Given the description of an element on the screen output the (x, y) to click on. 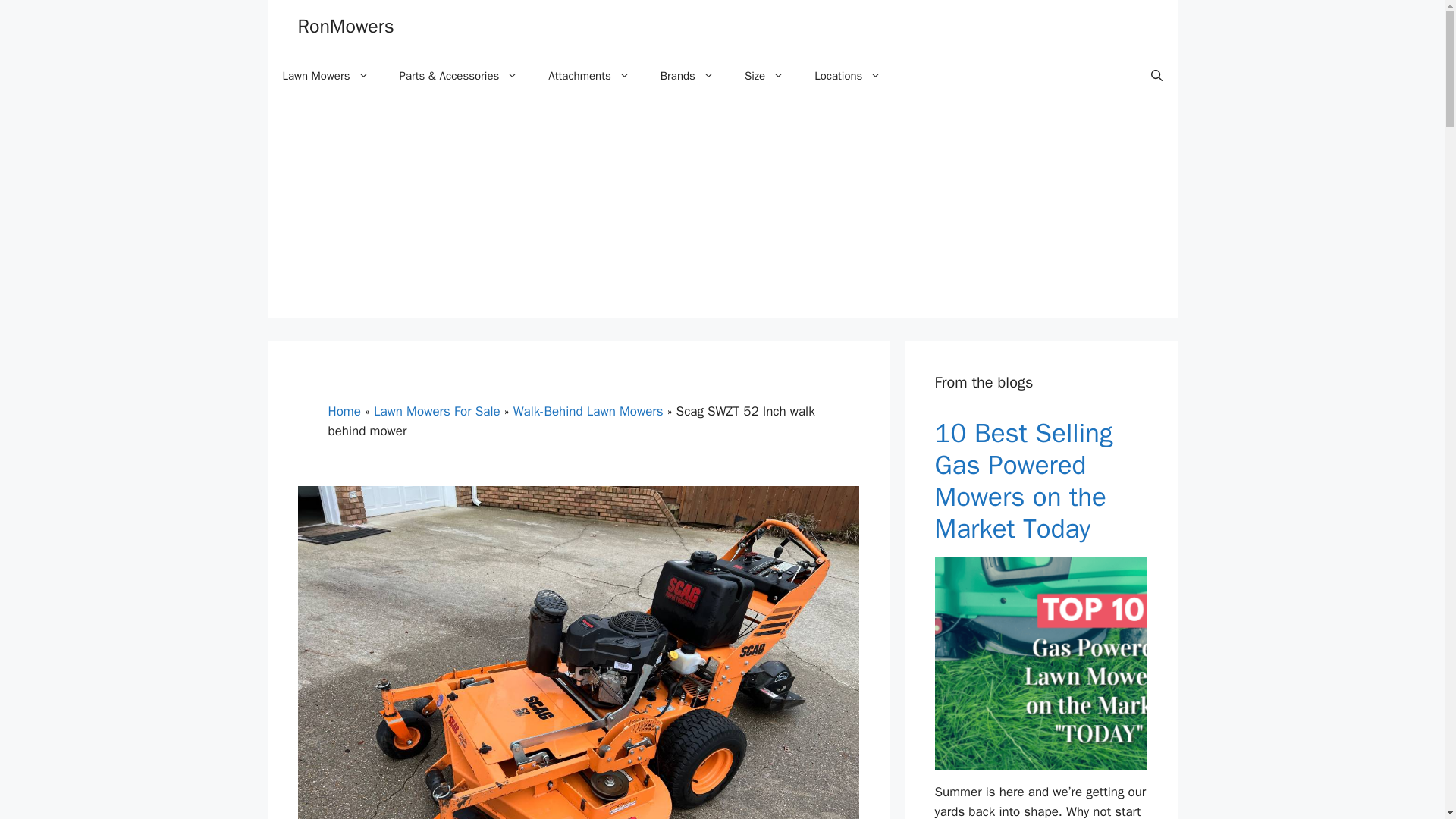
Brands (687, 75)
Attachments (588, 75)
Lawn Mowers (325, 75)
RonMowers (345, 25)
Size (764, 75)
